Given the description of an element on the screen output the (x, y) to click on. 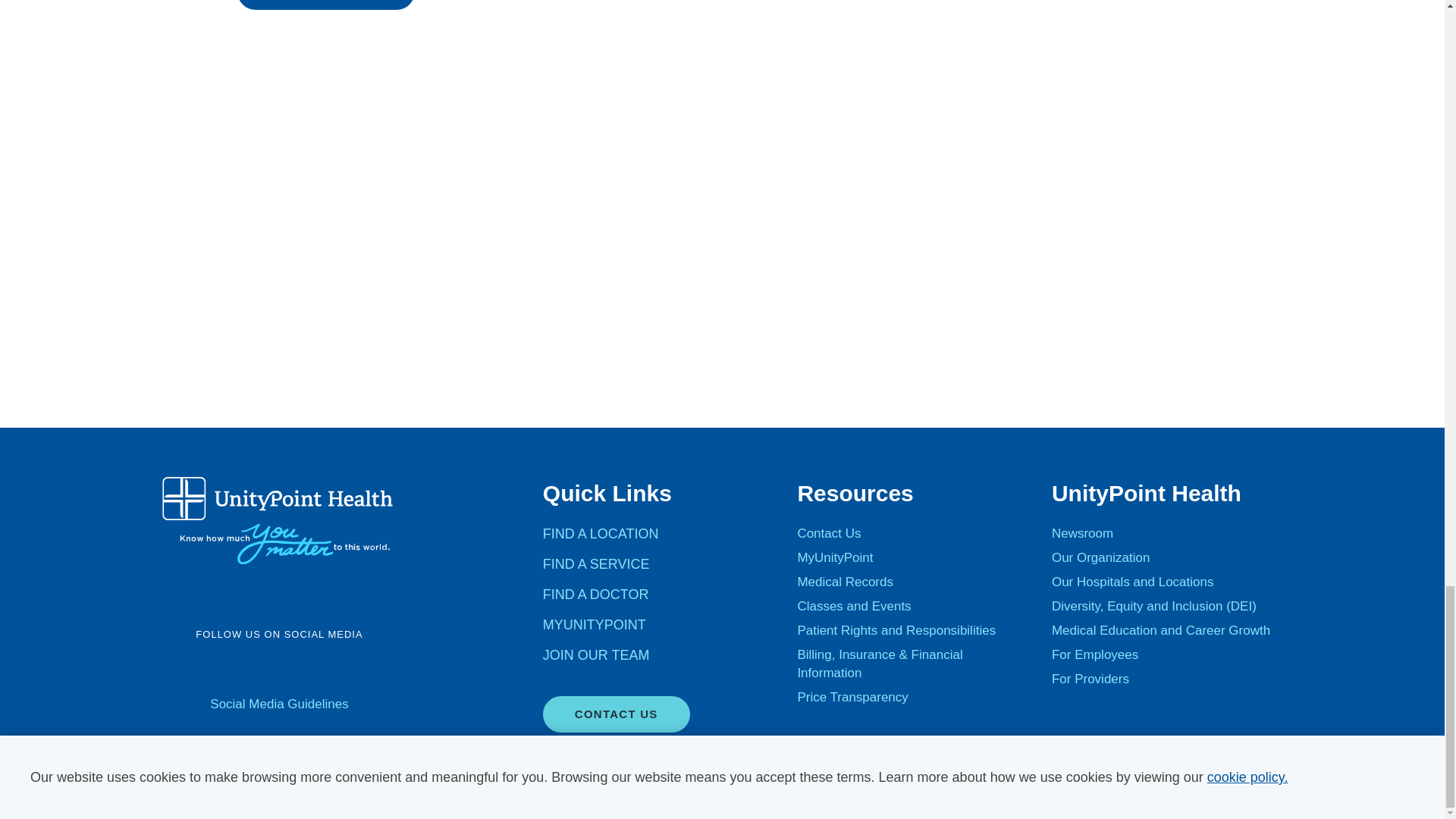
Linkedin (338, 669)
Facebook (179, 669)
Instagram (299, 669)
YouTube (259, 669)
Pinterest (377, 669)
FIND A PROVIDER (324, 4)
Twitter (220, 669)
